Given the description of an element on the screen output the (x, y) to click on. 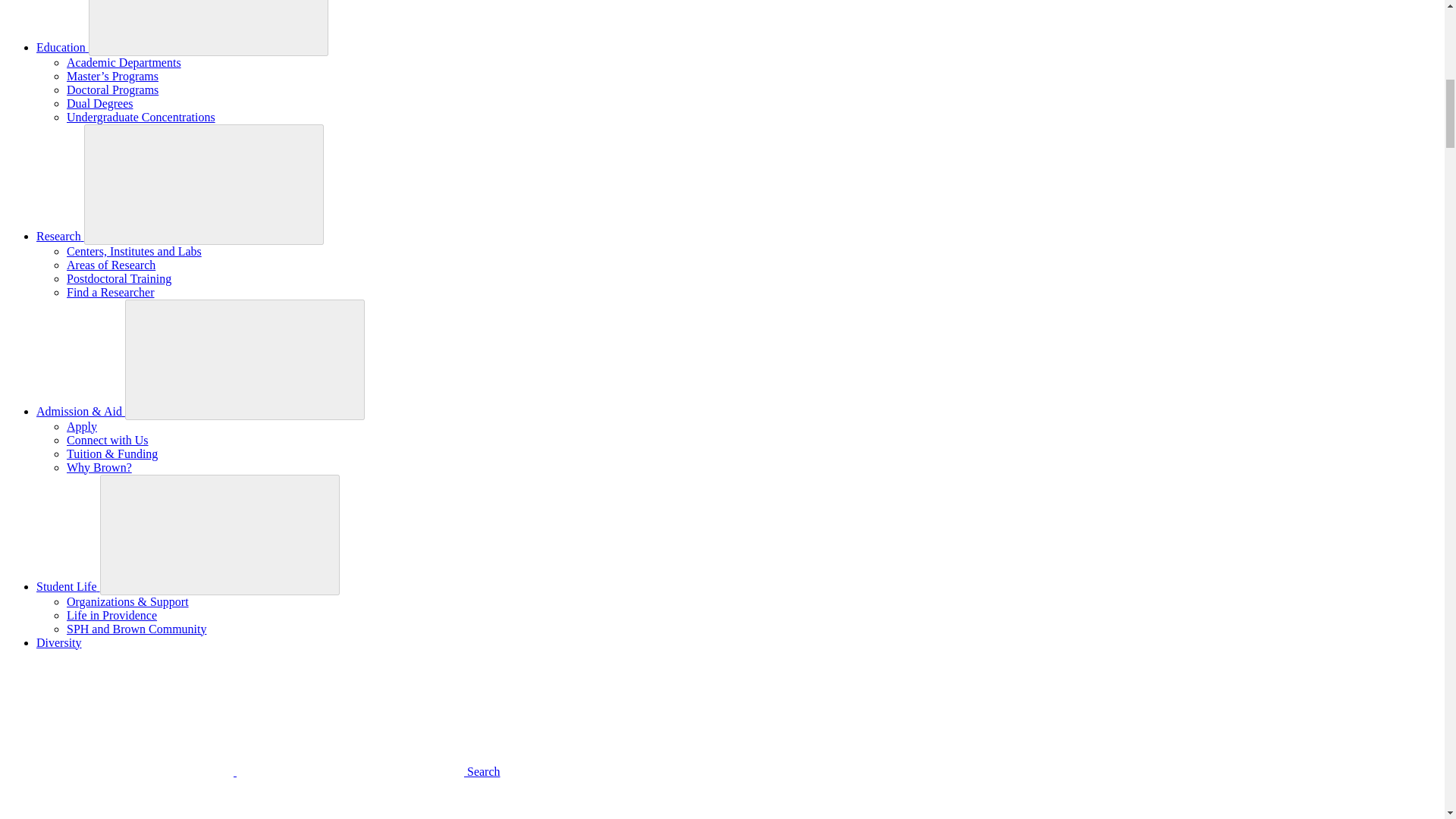
Centers, Institutes and Labs (134, 250)
Areas of Research (110, 264)
Academic Departments (123, 62)
Undergraduate Concentrations (140, 116)
Connect with Us (107, 440)
Postdoctoral Training (118, 278)
Research (60, 236)
Why Brown? (99, 467)
Education (62, 47)
Doctoral Programs (112, 89)
